Given the description of an element on the screen output the (x, y) to click on. 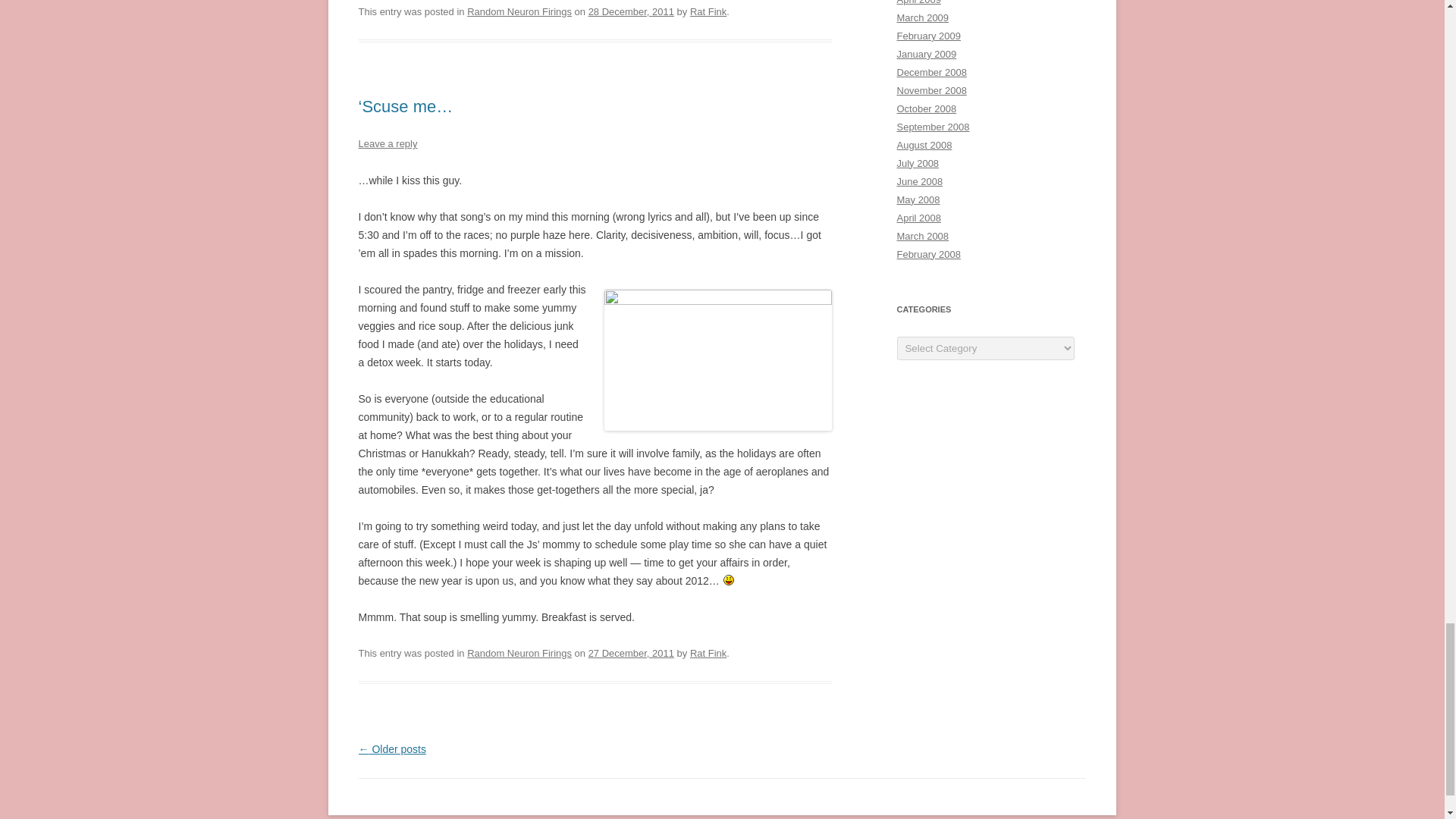
View all posts by Rat Fink (708, 653)
8:57 am (631, 11)
7:14 am (631, 653)
Random Neuron Firings (519, 11)
Rat Fink (708, 11)
28 December, 2011 (631, 11)
View all posts by Rat Fink (708, 11)
Leave a reply (387, 143)
